Given the description of an element on the screen output the (x, y) to click on. 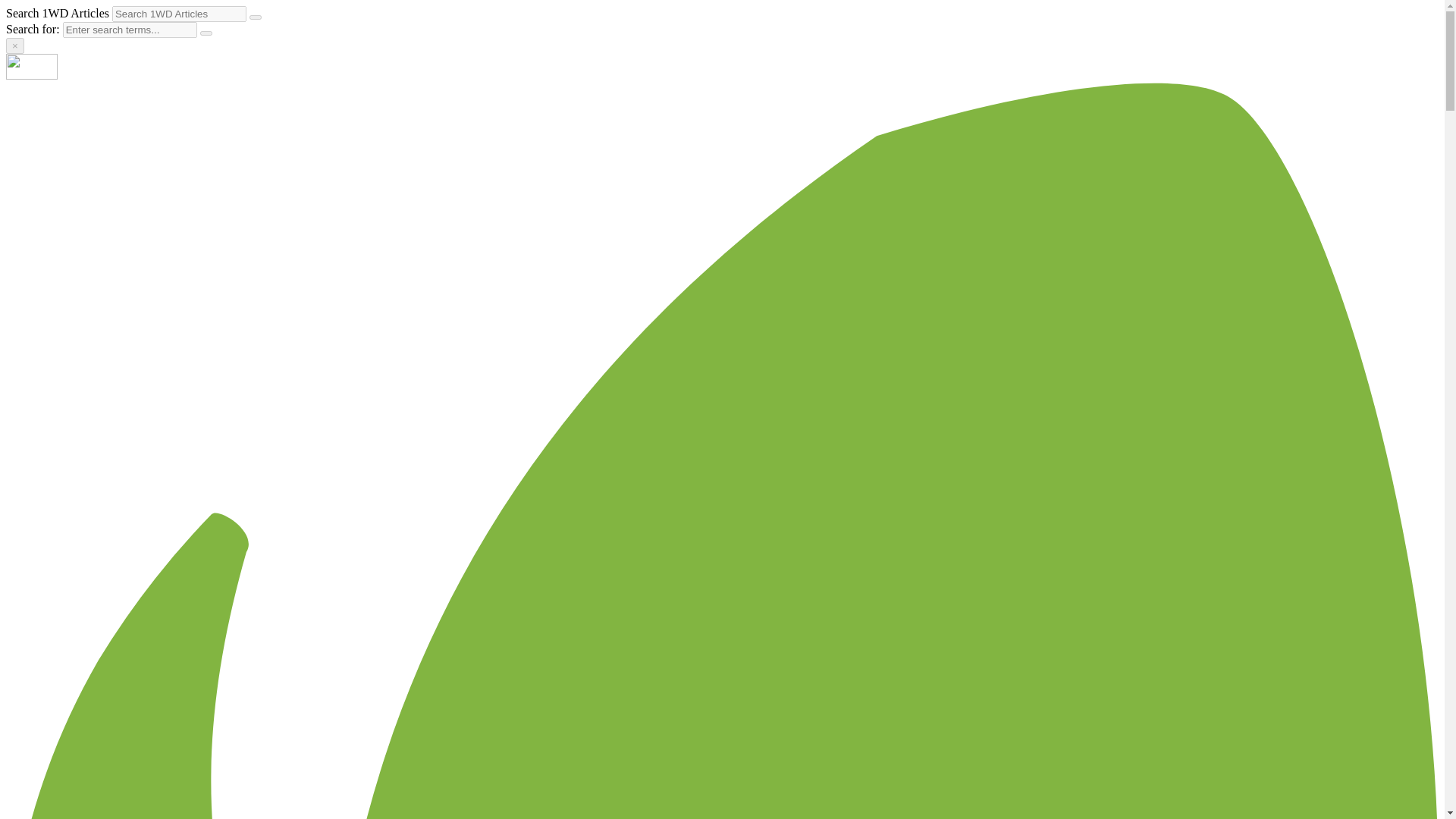
1stWebDesigner (31, 74)
